Given the description of an element on the screen output the (x, y) to click on. 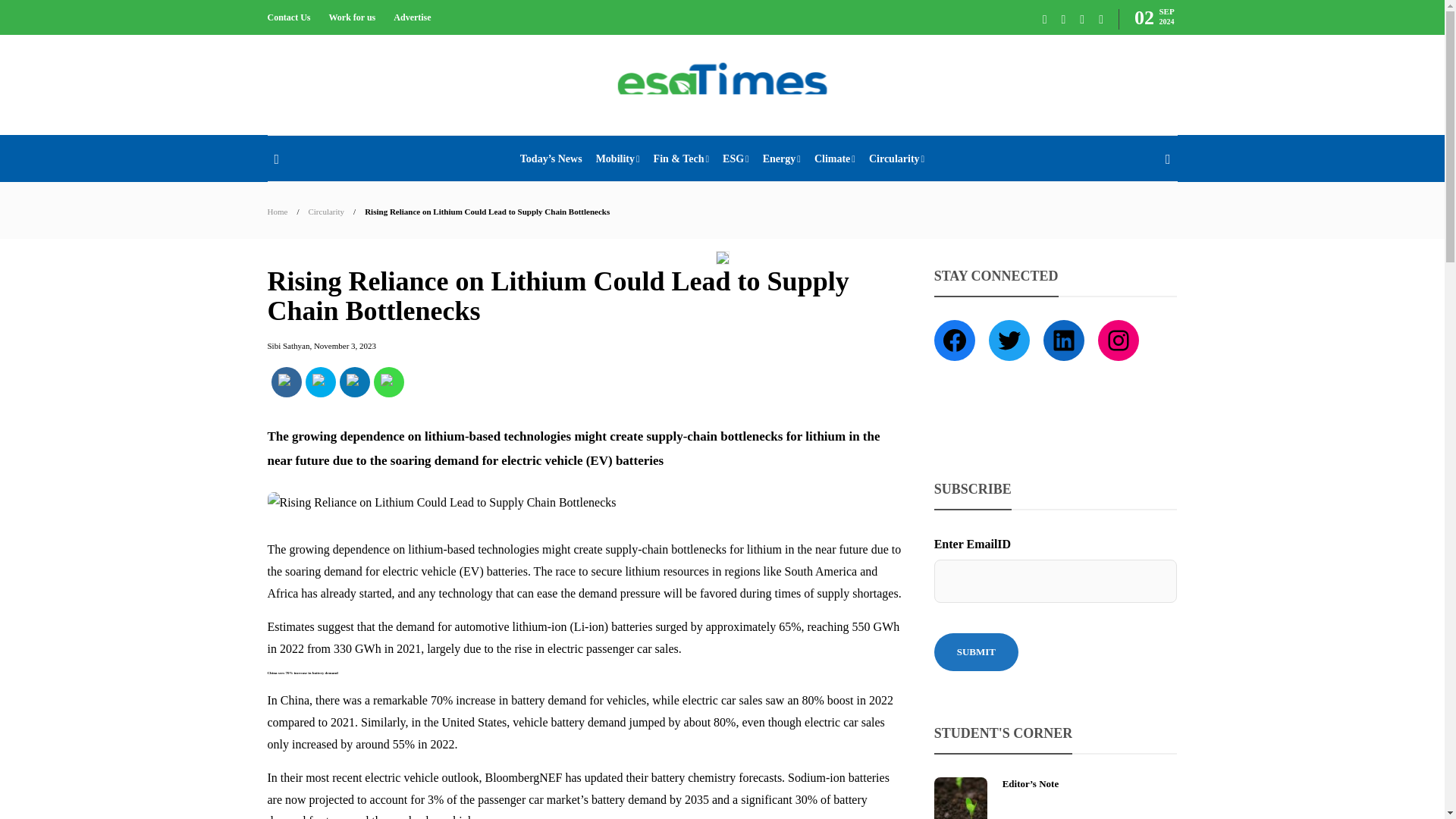
Submit (975, 651)
Advertise (411, 17)
Climate (834, 158)
Circularity (896, 158)
Work for us (352, 17)
Mobility (617, 158)
Twitter (321, 381)
Home (276, 211)
LinkedIn (354, 381)
